Given the description of an element on the screen output the (x, y) to click on. 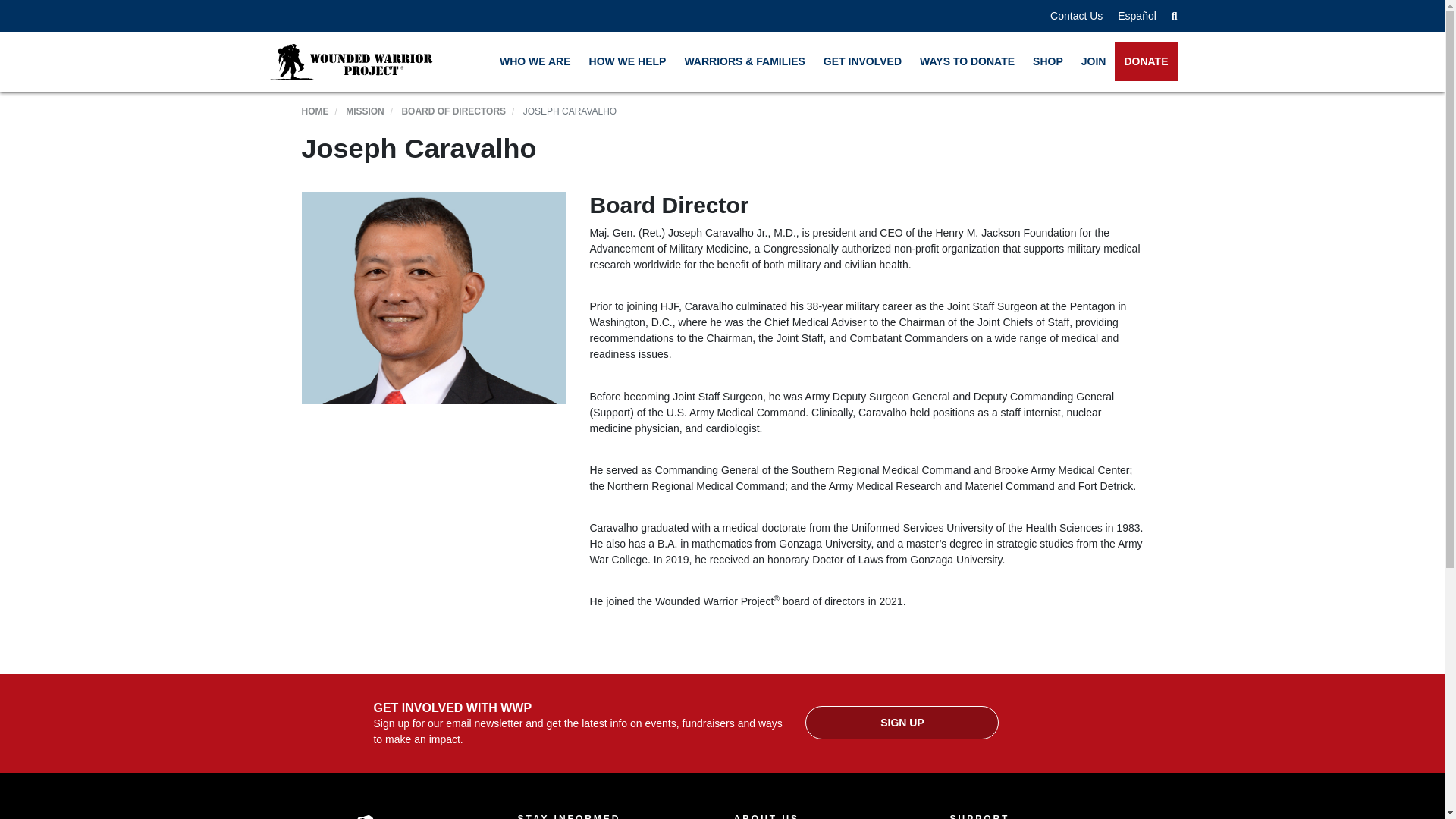
WHO WE ARE (534, 61)
GET INVOLVED (862, 61)
WAYS TO DONATE (967, 61)
SHOP (1047, 61)
HOW WE HELP (627, 61)
Contact Us (1075, 15)
